Given the description of an element on the screen output the (x, y) to click on. 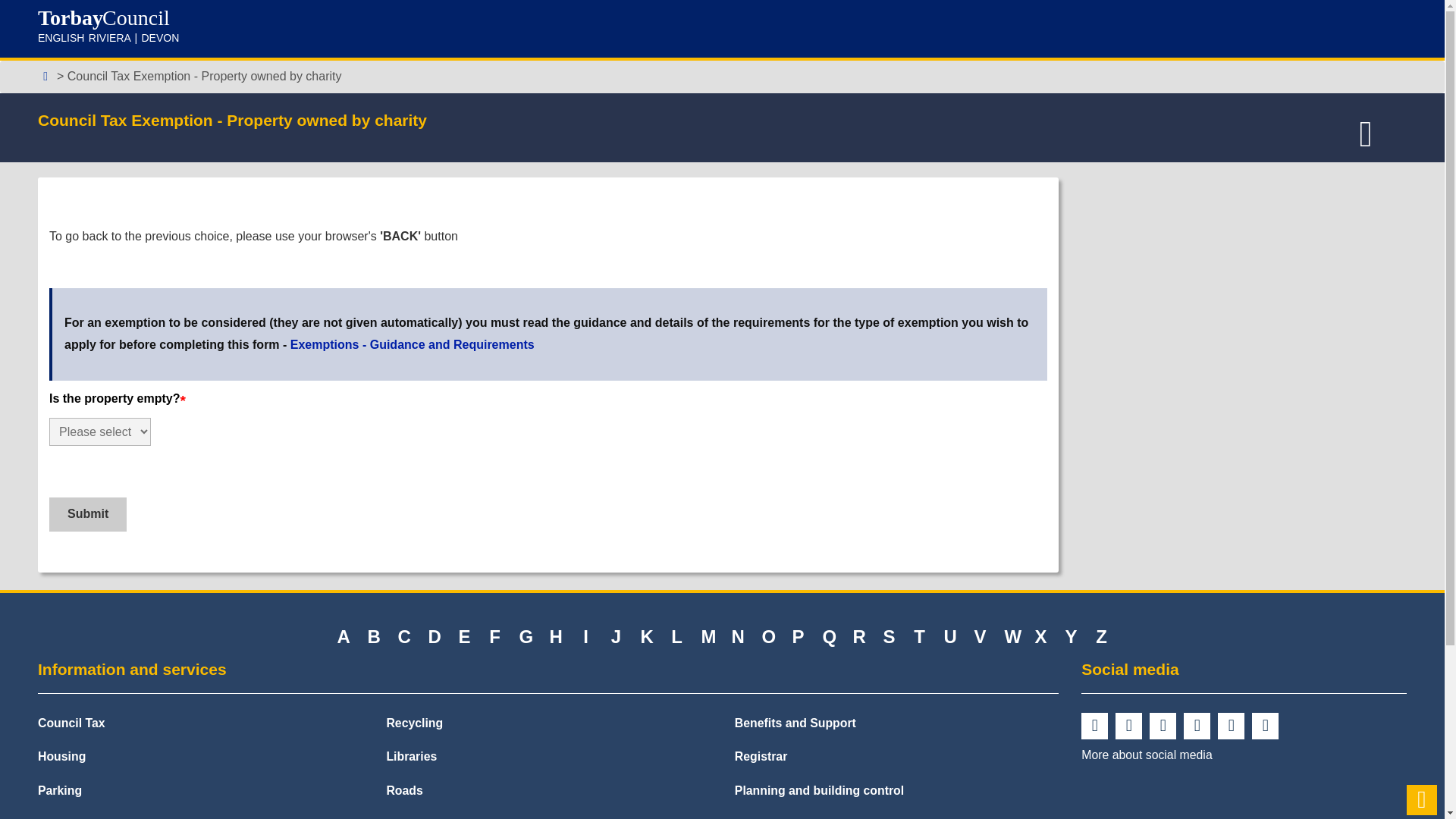
Submit (87, 514)
Council Tax (70, 723)
Submit (87, 514)
Exemptions - Guidance and Requirements (411, 344)
Recycling (413, 723)
